Given the description of an element on the screen output the (x, y) to click on. 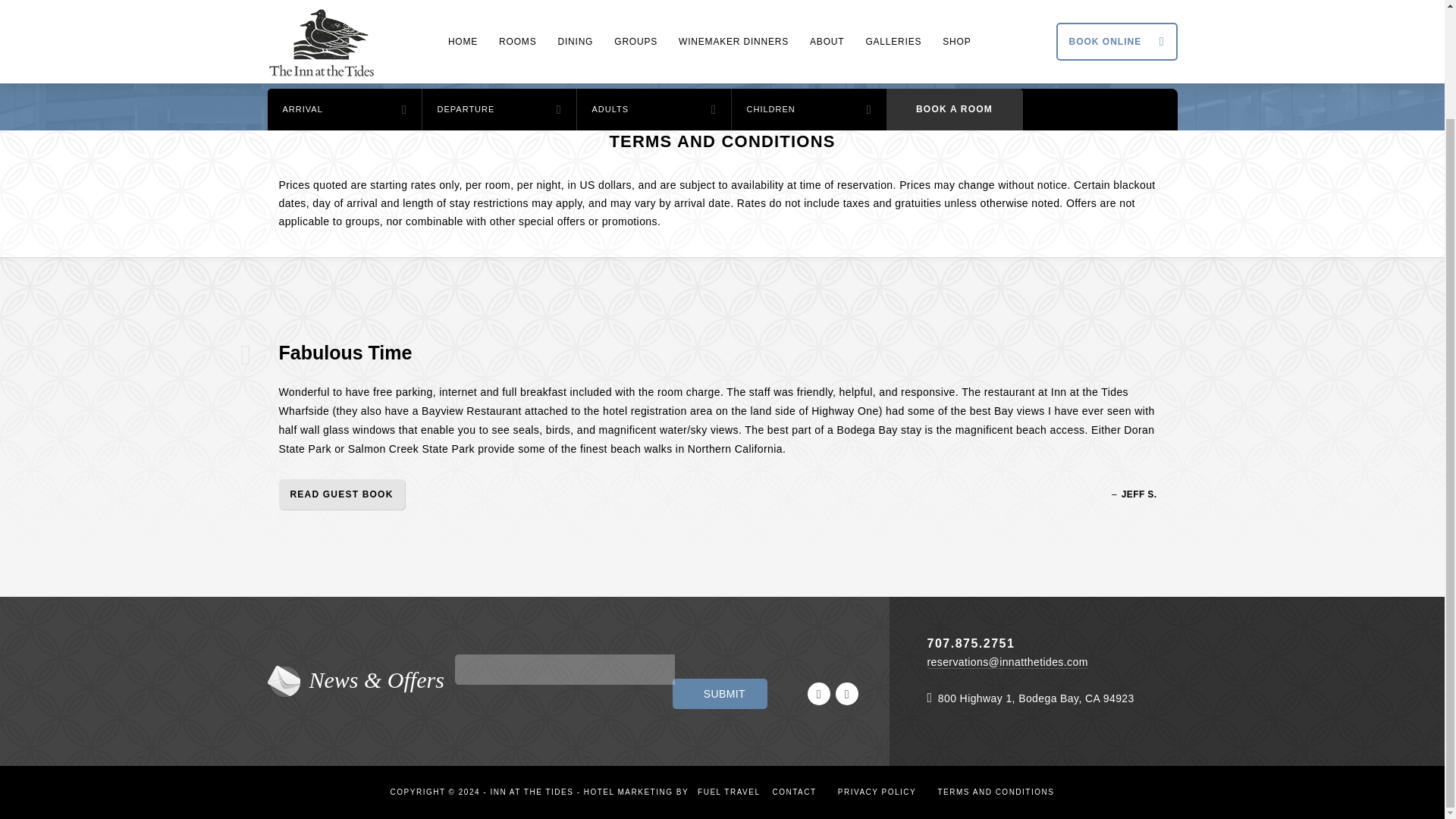
Facebook (818, 692)
BOOK A ROOM (953, 109)
Submit (719, 693)
Twitter (847, 692)
READ GUEST BOOK (341, 494)
FUEL TRAVEL (724, 791)
Submit (719, 693)
CONTACT (793, 791)
